Given the description of an element on the screen output the (x, y) to click on. 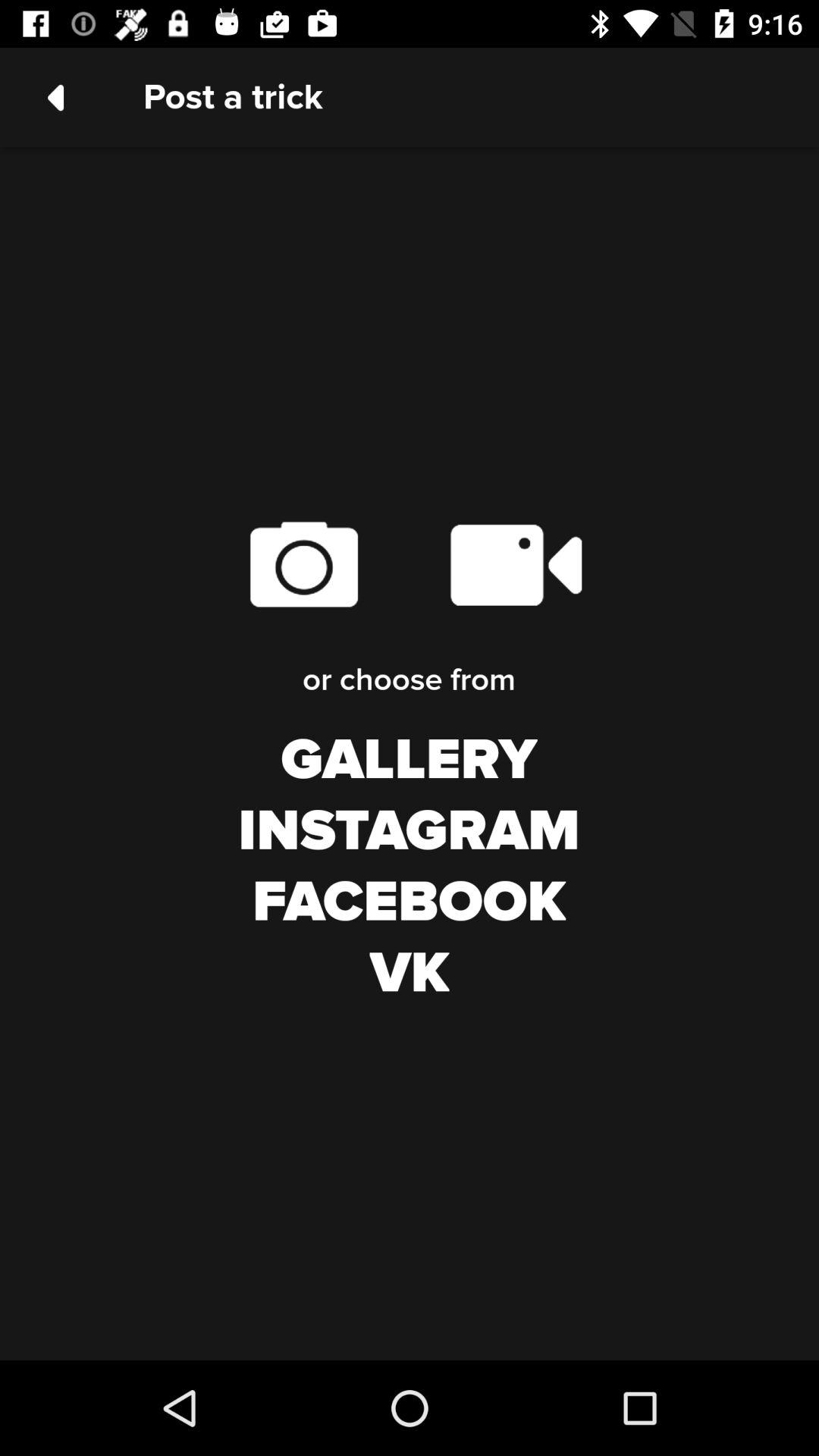
jump to vk (409, 973)
